Given the description of an element on the screen output the (x, y) to click on. 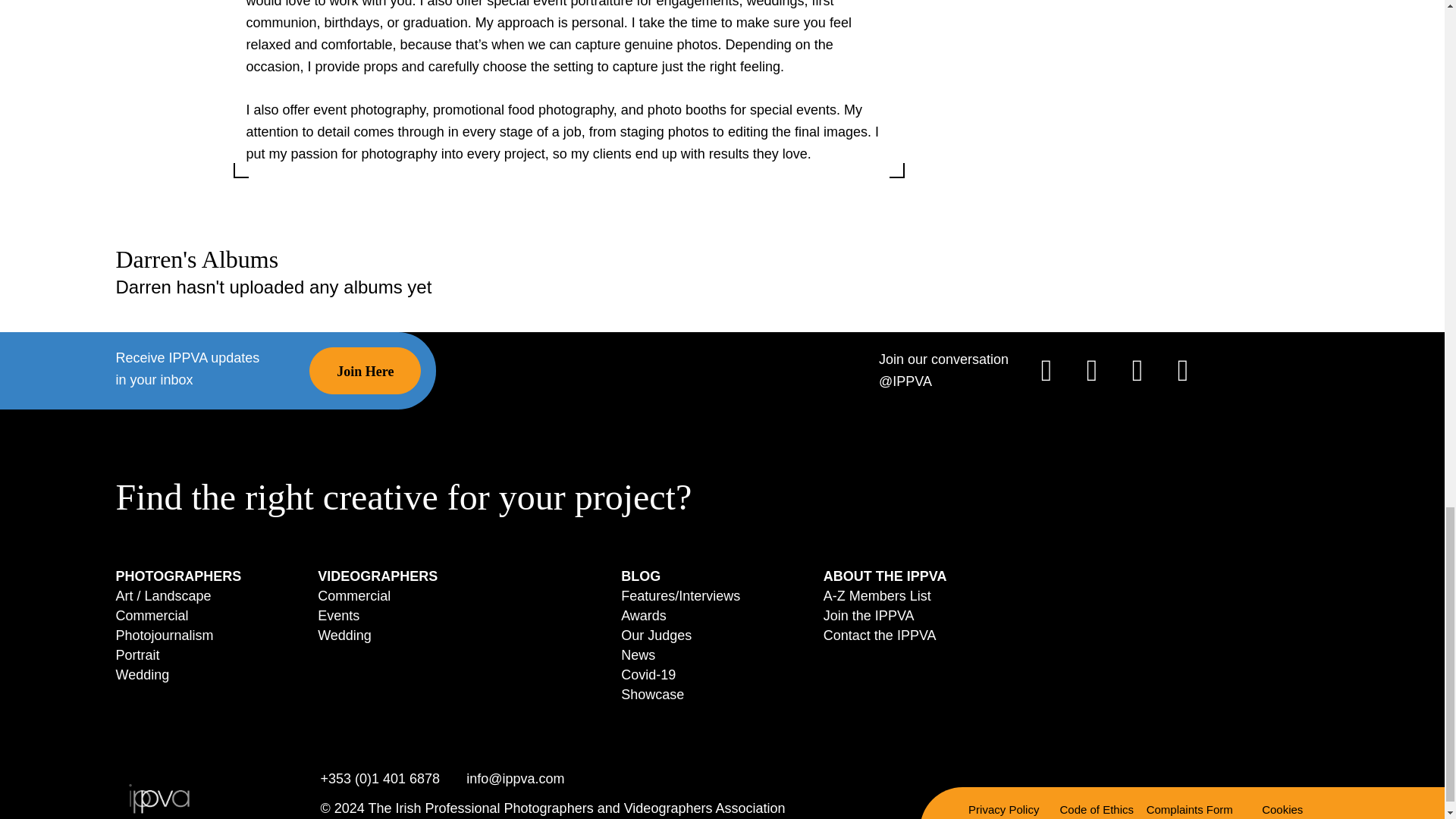
Events (338, 615)
PHOTOGRAPHERS (178, 575)
Wedding (141, 674)
Commercial (151, 615)
Photojournalism (163, 635)
Portrait (136, 654)
Join Here (364, 370)
Wedding (344, 635)
VIDEOGRAPHERS (377, 575)
Commercial (353, 595)
